Given the description of an element on the screen output the (x, y) to click on. 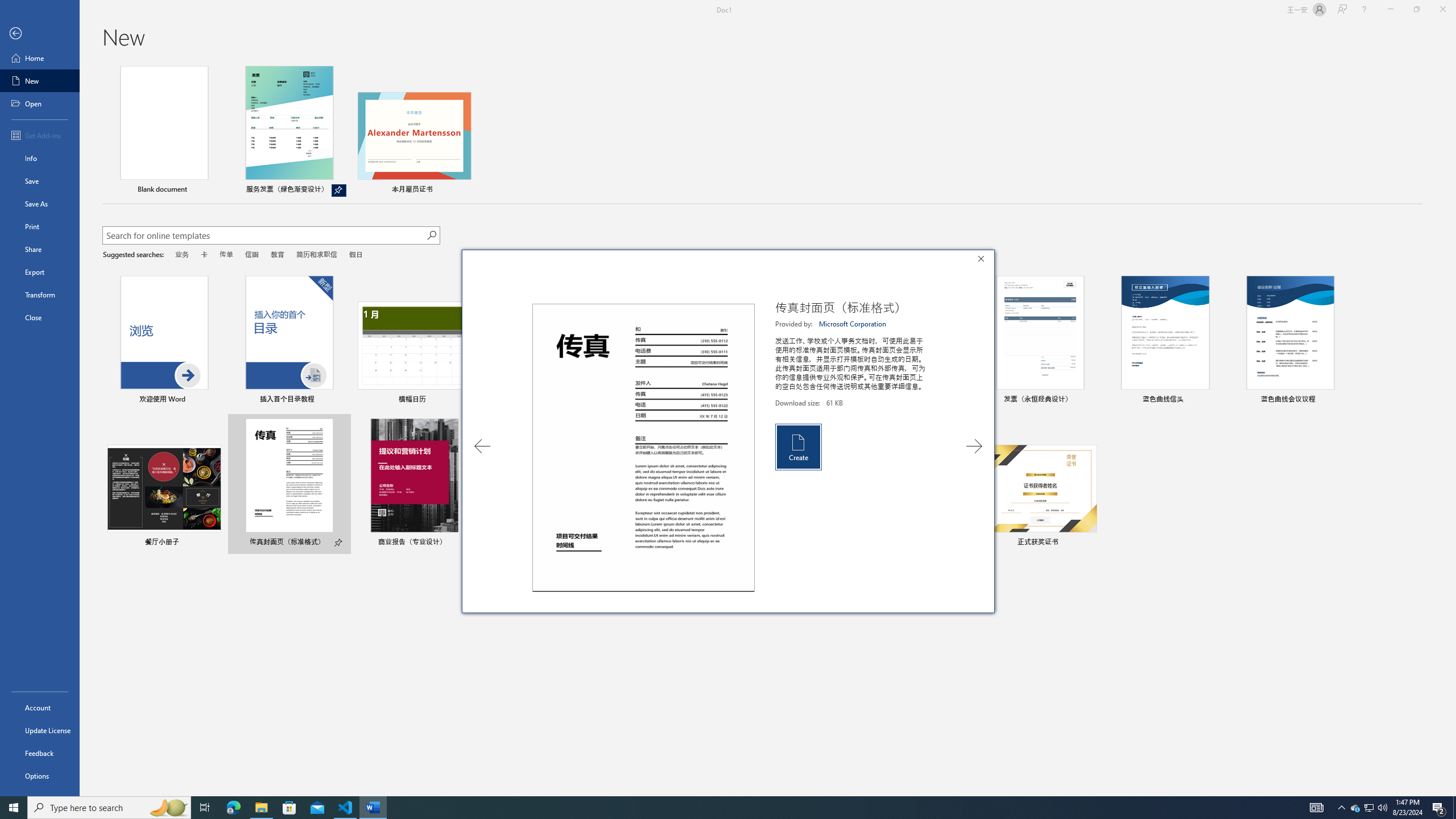
Save As (40, 203)
Print (40, 225)
Word - 1 running window (373, 807)
Running applications (717, 807)
Back (40, 33)
